Given the description of an element on the screen output the (x, y) to click on. 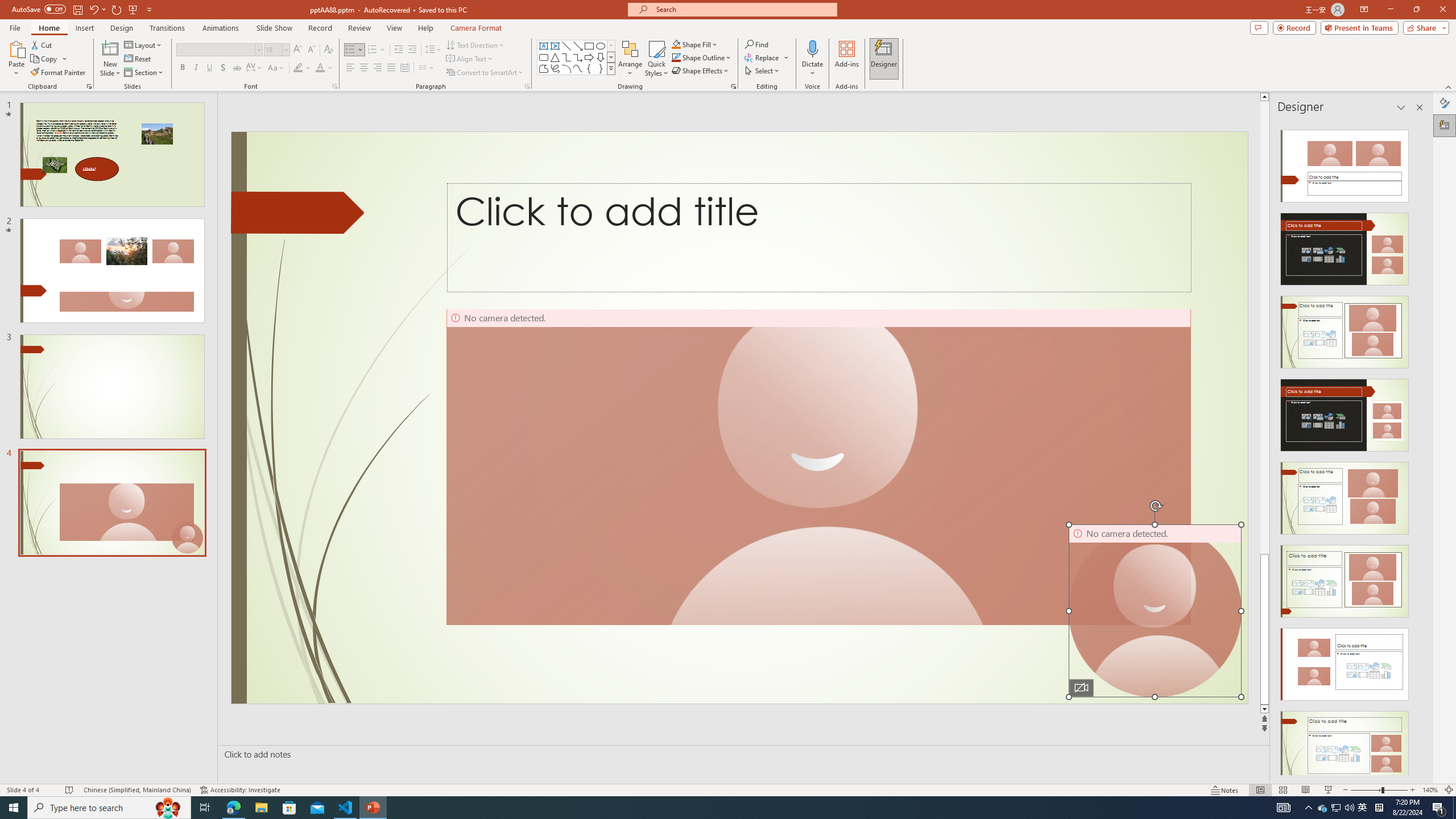
Copy (49, 58)
Title TextBox (818, 237)
Collapse the Ribbon (1448, 86)
Slide Show (1328, 790)
Align Left (349, 67)
Quick Access Toolbar (82, 9)
Font (215, 49)
System (6, 6)
Minimize (1390, 9)
Open (285, 49)
Font... (334, 85)
Zoom Out (1366, 790)
Line down (1264, 709)
AutoSave (38, 9)
